Given the description of an element on the screen output the (x, y) to click on. 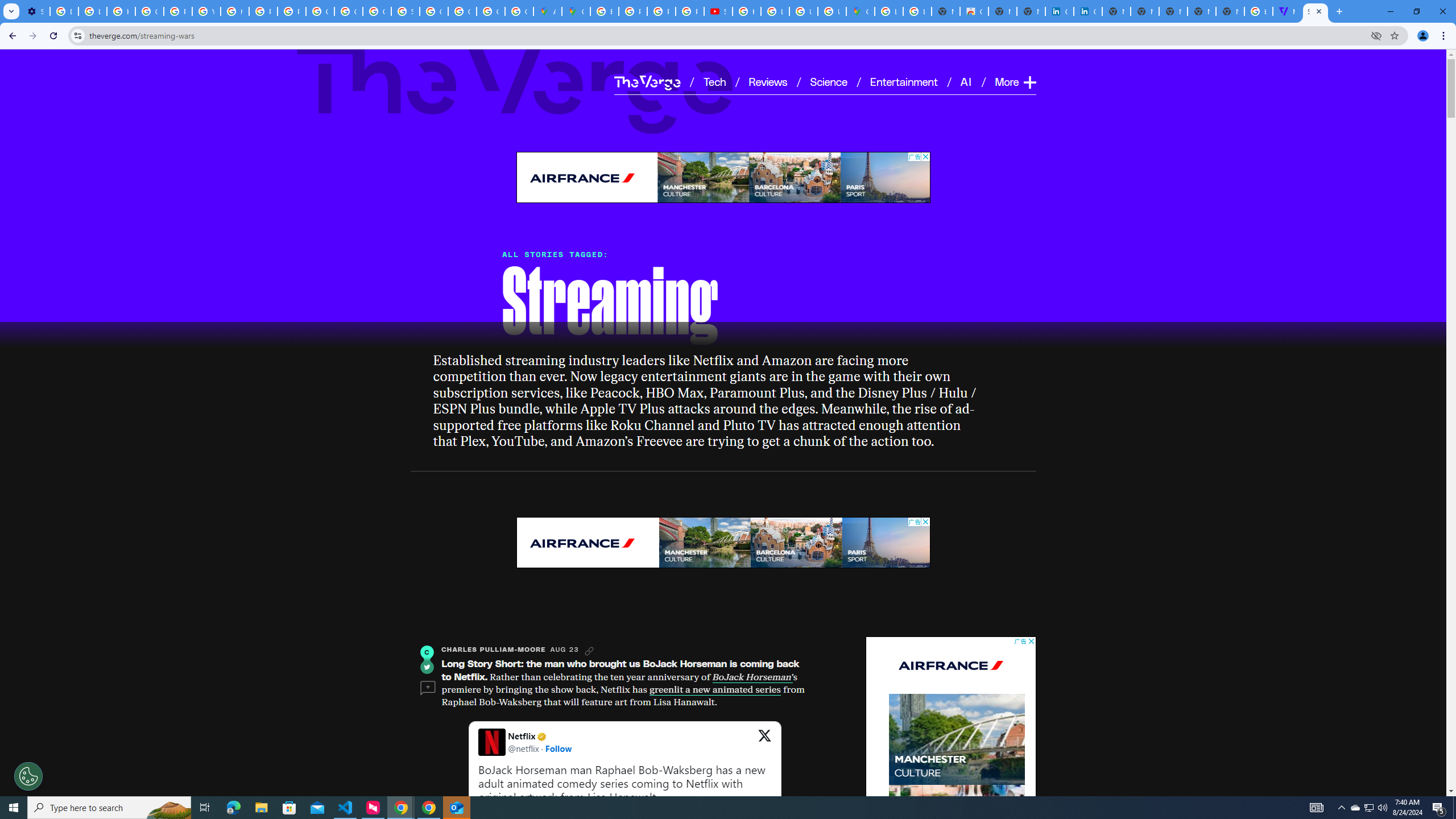
Reviews (767, 81)
Streaming - The Verge (1315, 11)
Copy link (589, 651)
Privacy Help Center - Policies Help (661, 11)
